Given the description of an element on the screen output the (x, y) to click on. 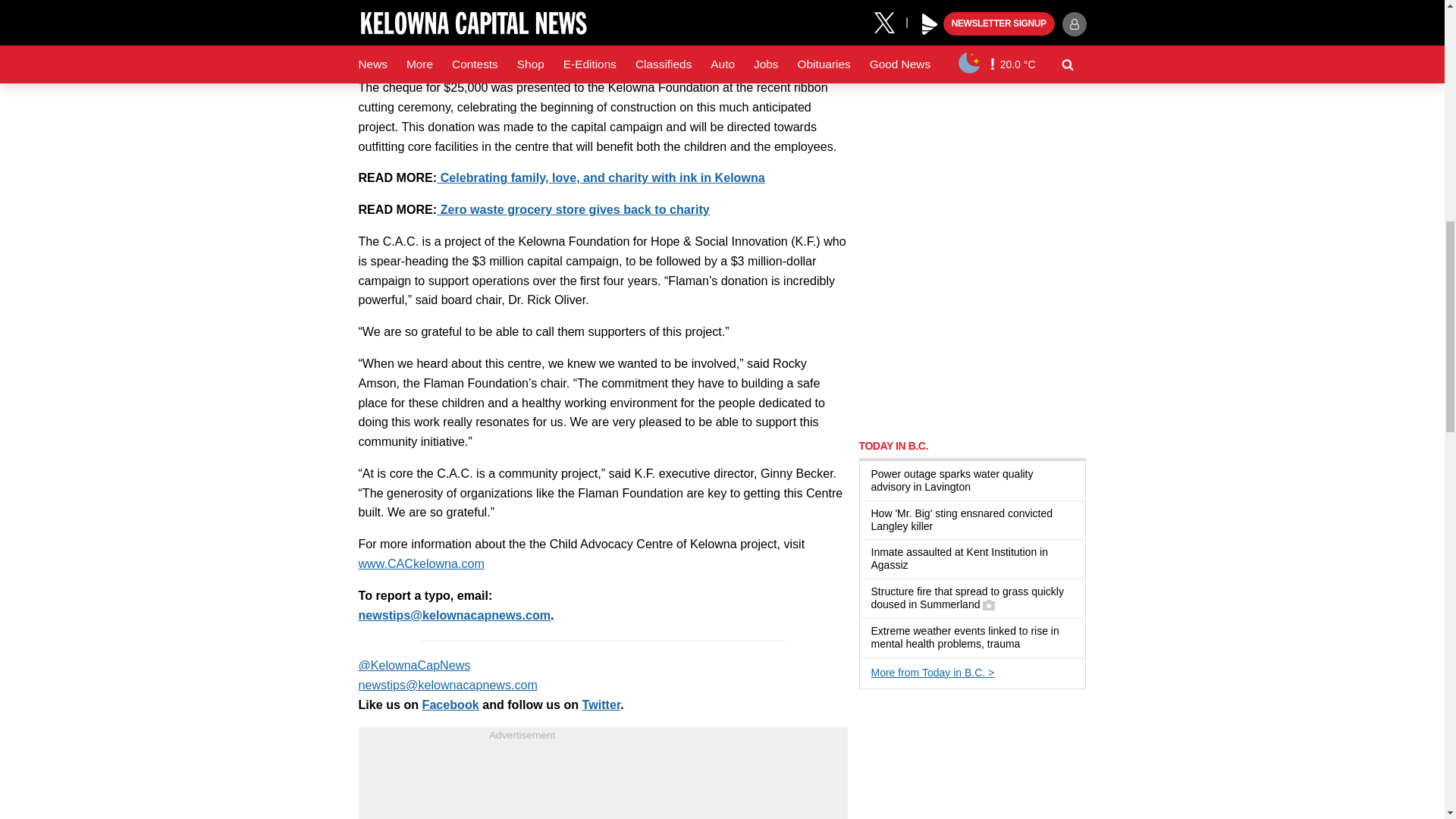
3rd party ad content (602, 783)
Has a gallery (988, 604)
